Given the description of an element on the screen output the (x, y) to click on. 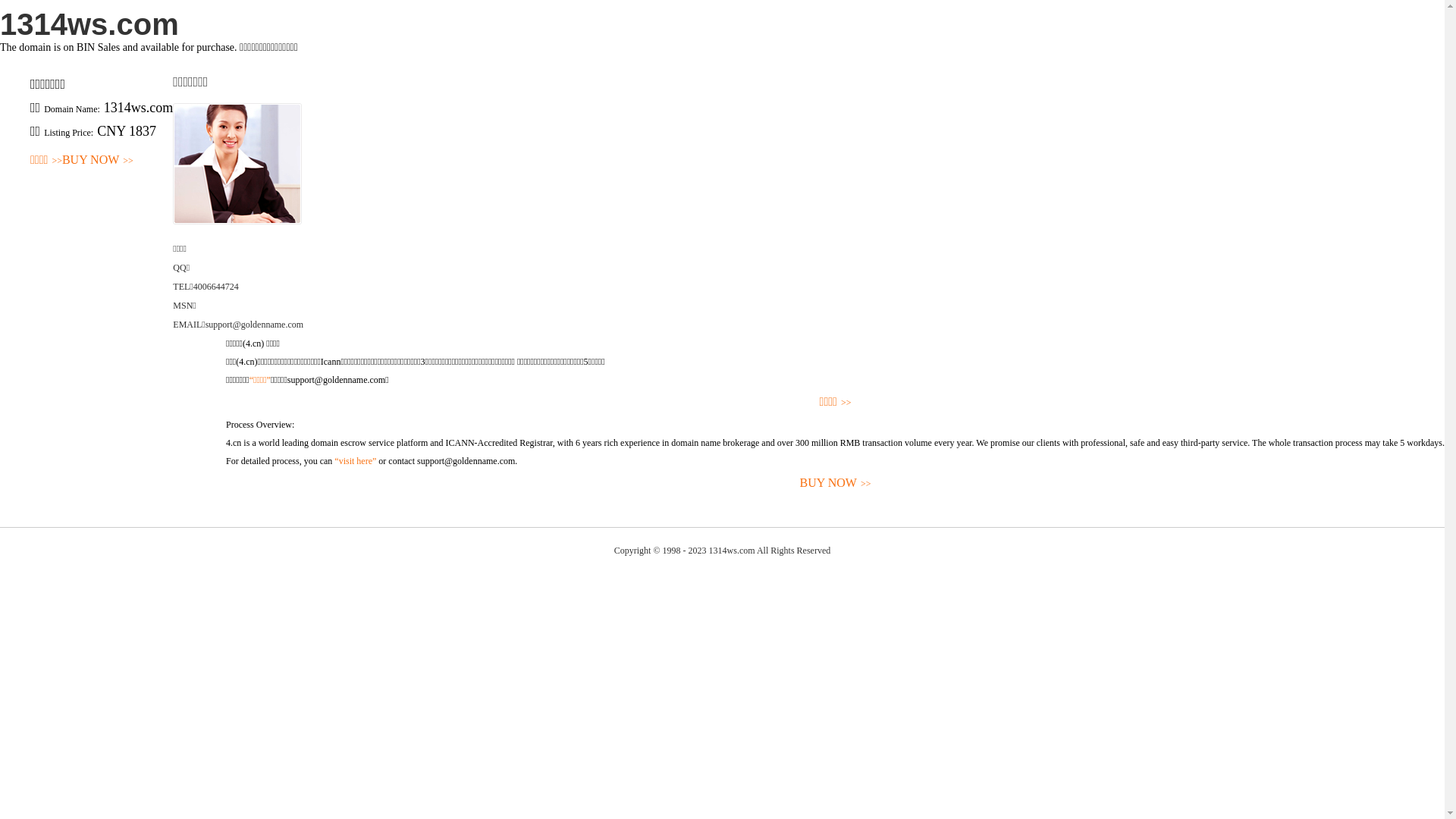
BUY NOW>> Element type: text (97, 160)
BUY NOW>> Element type: text (834, 483)
